Given the description of an element on the screen output the (x, y) to click on. 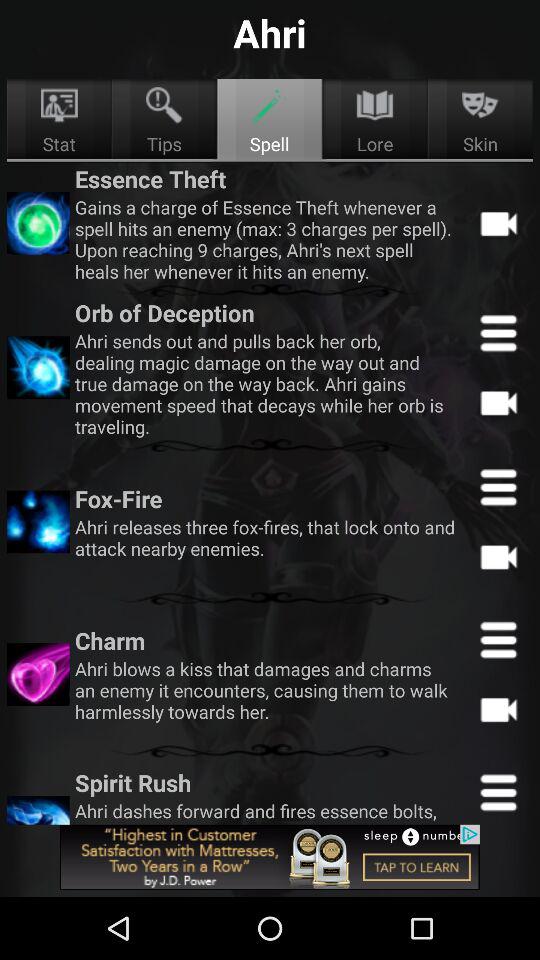
view video (498, 709)
